Given the description of an element on the screen output the (x, y) to click on. 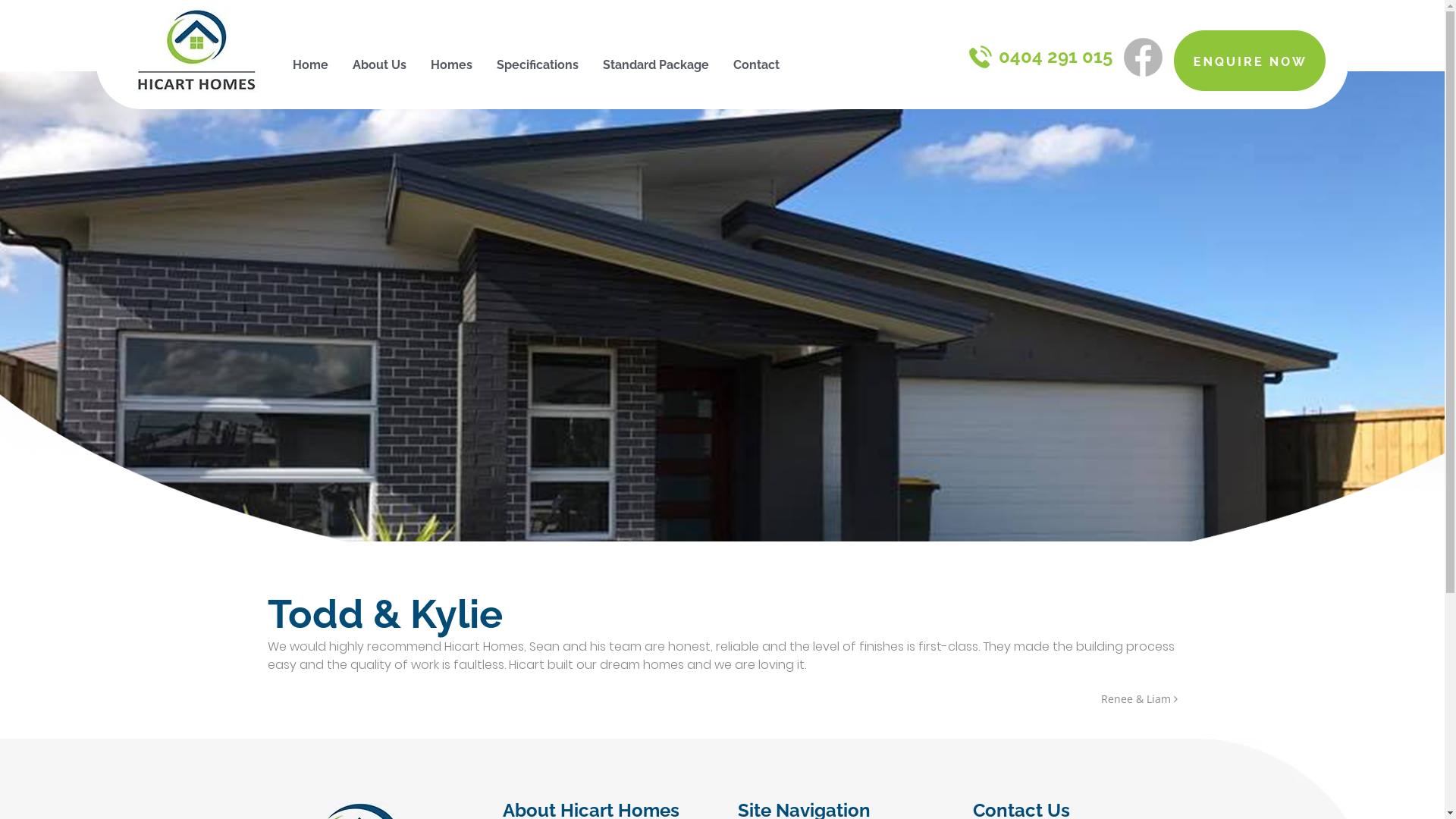
Home Element type: text (310, 64)
Specifications Element type: text (537, 64)
Standard Package Element type: text (655, 64)
Renee & Liam Element type: text (1139, 698)
0404 291 015 Element type: text (1040, 56)
Homes Element type: text (451, 64)
About Us Element type: text (379, 64)
Contact Element type: text (756, 64)
